Given the description of an element on the screen output the (x, y) to click on. 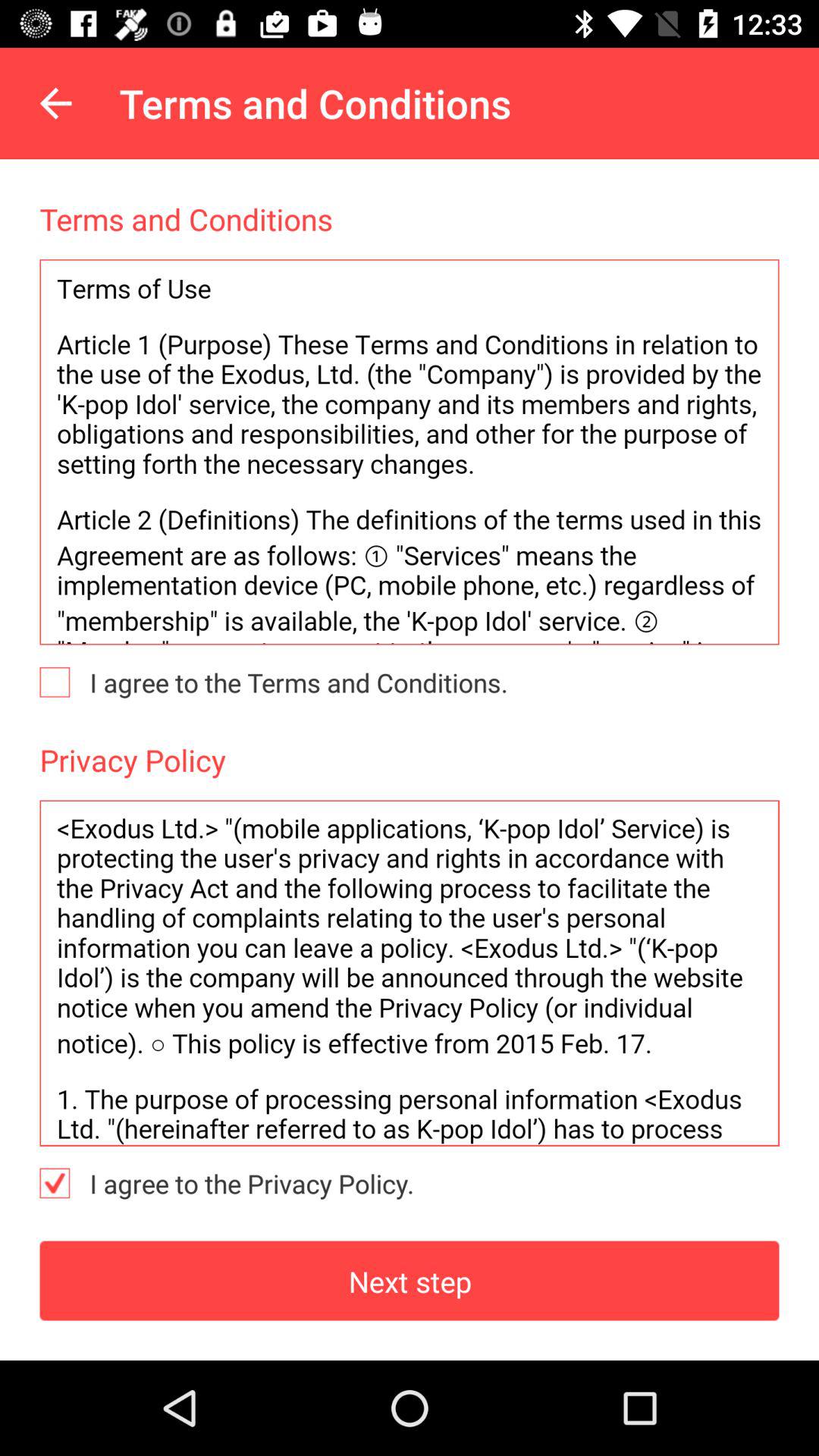
read terms of use (409, 452)
